Given the description of an element on the screen output the (x, y) to click on. 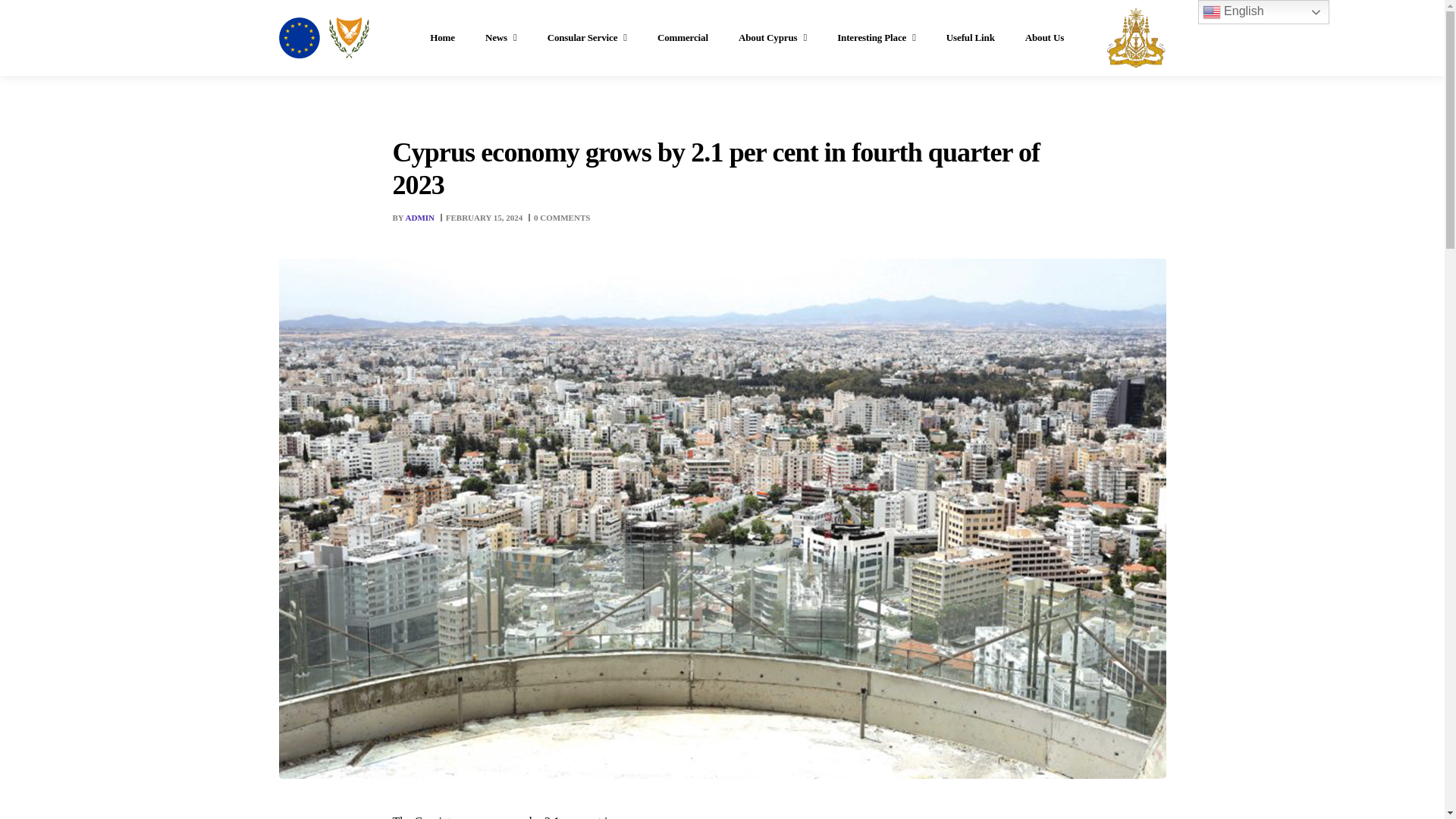
cyprusconsulatecambodia- (324, 37)
FEBRUARY 15, 2024 (483, 216)
BY ADMIN (414, 216)
Consular Service (587, 38)
0 COMMENTS (561, 216)
About Cyprus (772, 38)
Browse Author Articles (414, 216)
Interesting Place (876, 38)
